Given the description of an element on the screen output the (x, y) to click on. 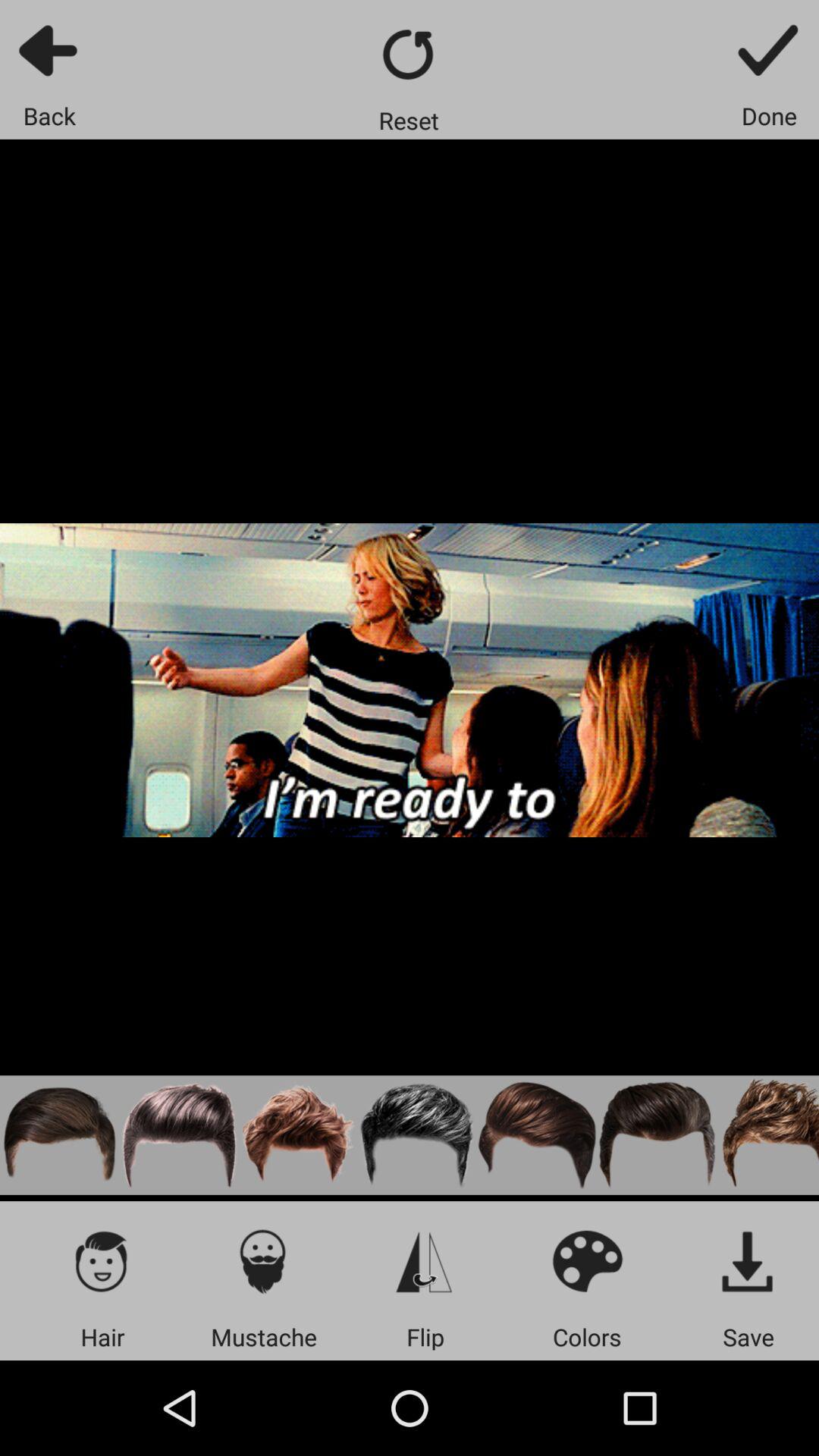
flip the style vertically button (425, 1260)
